Given the description of an element on the screen output the (x, y) to click on. 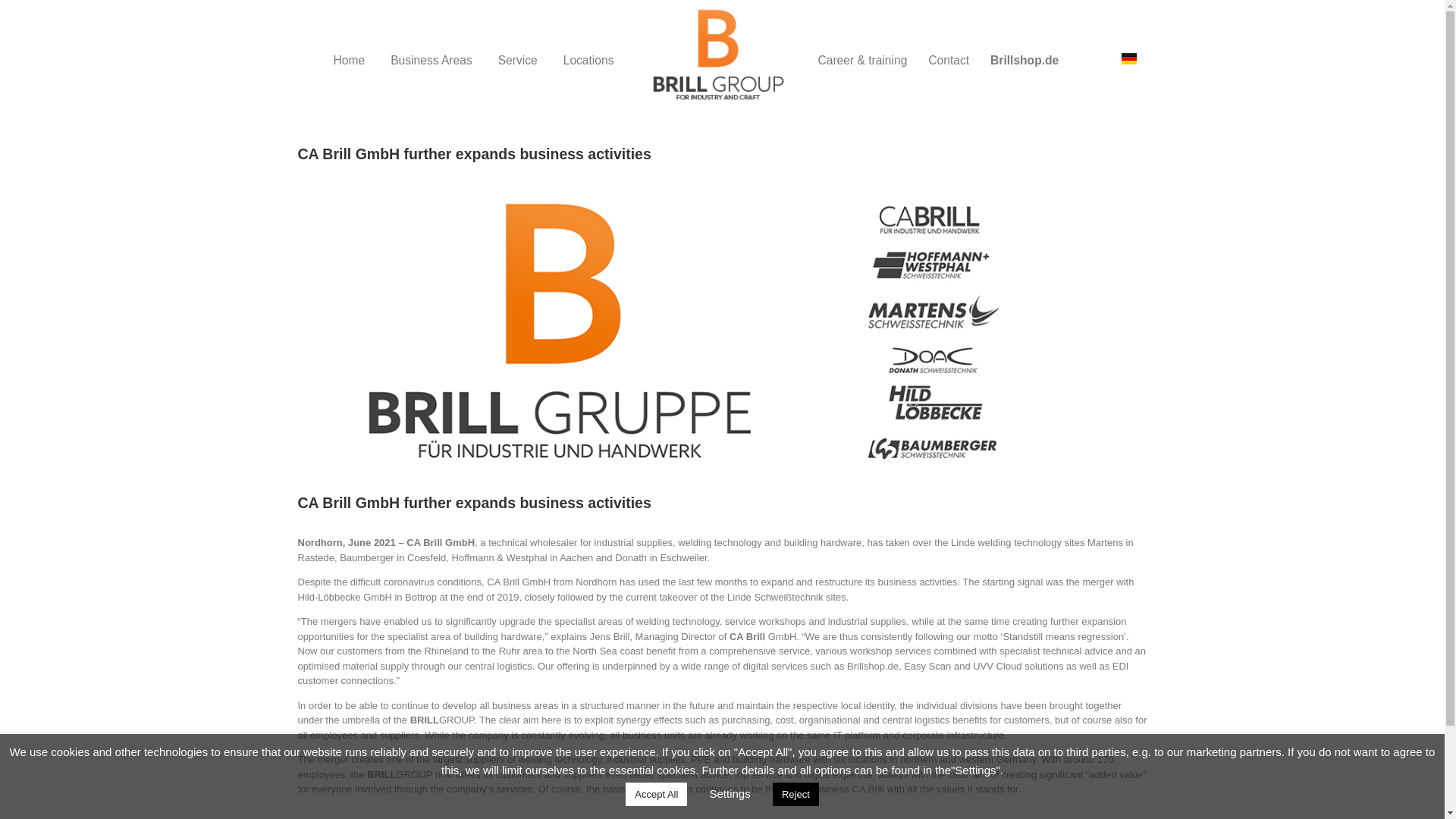
Locations (588, 60)
Home (349, 60)
Business Areas (430, 60)
Service (517, 60)
